Given the description of an element on the screen output the (x, y) to click on. 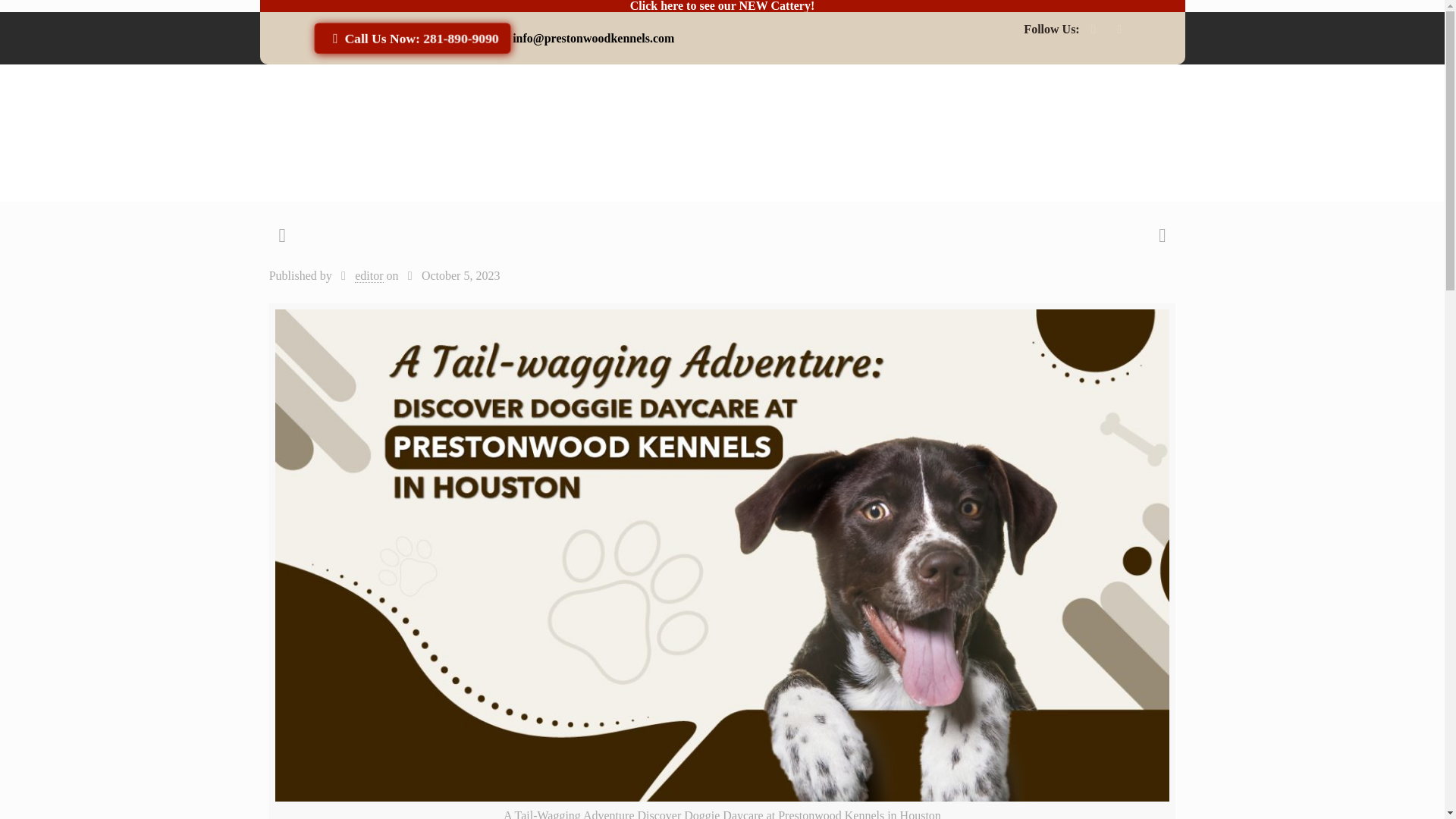
editor (368, 275)
Facebook (1093, 29)
Call Us Now: 281-890-9090 (410, 38)
Click here to see our NEW Cattery! (722, 6)
Instagram (1118, 29)
